Given the description of an element on the screen output the (x, y) to click on. 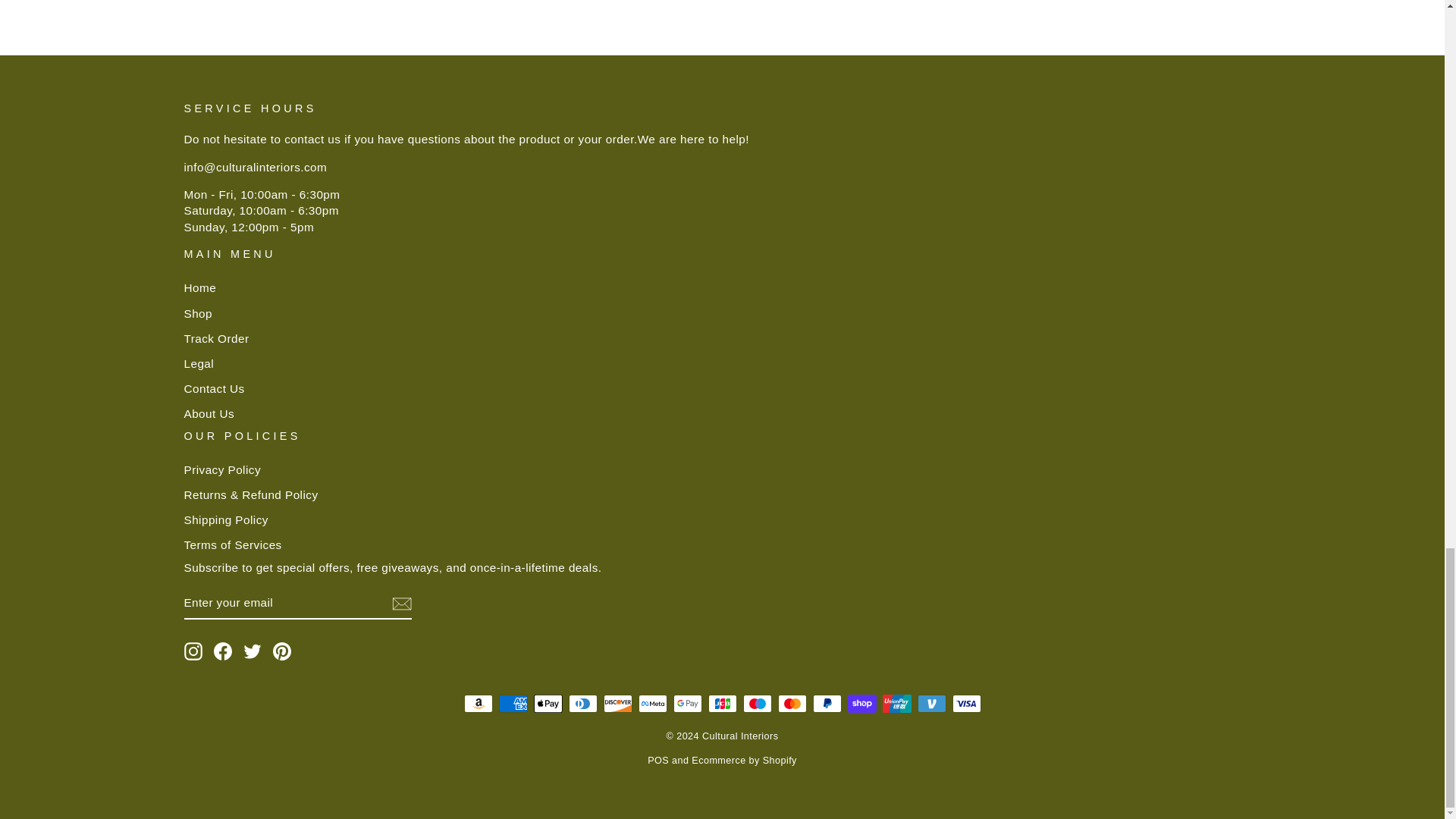
Diners Club (582, 703)
Discover (617, 703)
Apple Pay (548, 703)
Cultural Interiors on Pinterest (282, 651)
American Express (513, 703)
Cultural Interiors on Instagram (192, 651)
Cultural Interiors on Twitter (251, 651)
Cultural Interiors on Facebook (222, 651)
Amazon (478, 703)
